Given the description of an element on the screen output the (x, y) to click on. 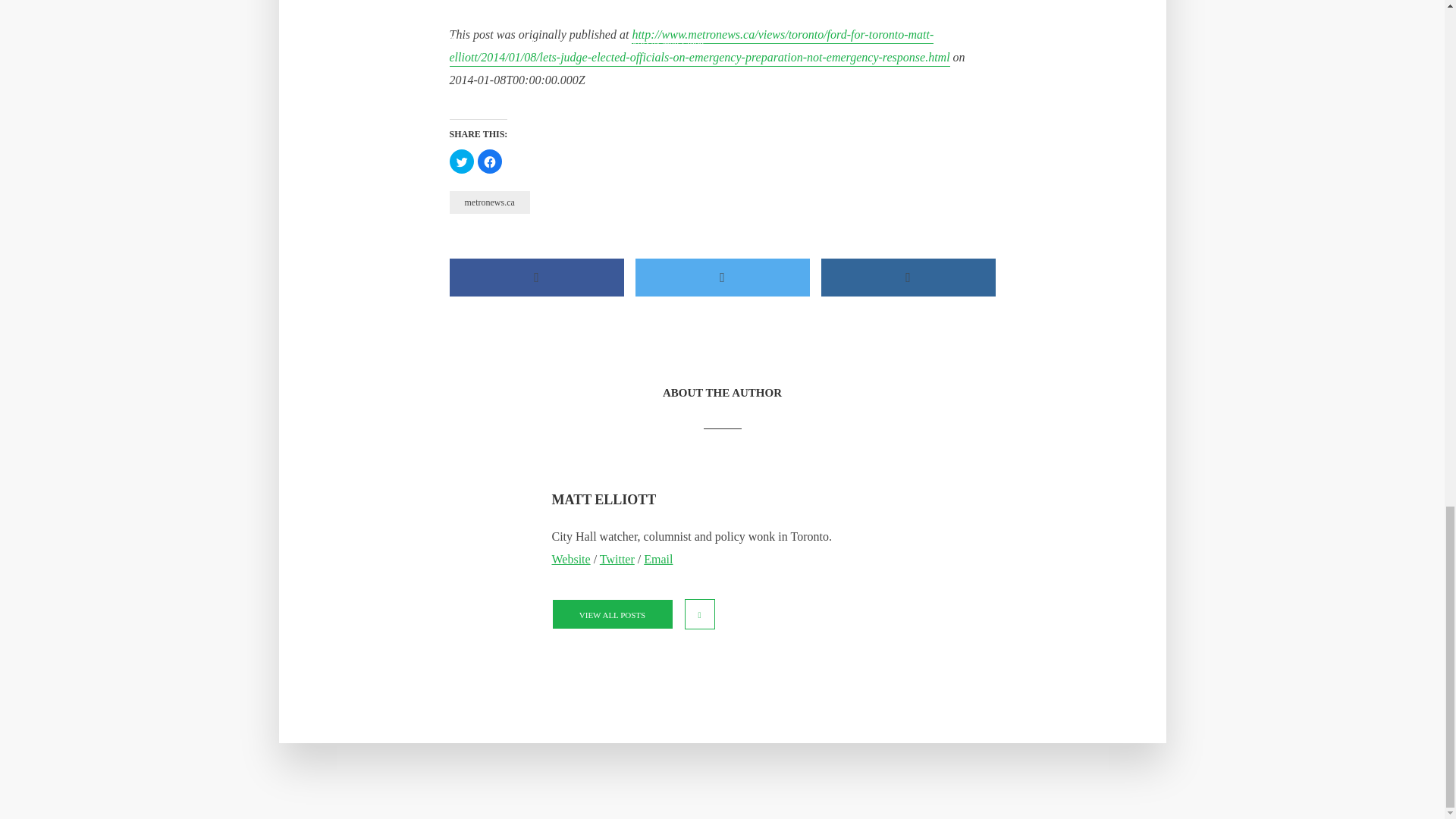
Website (571, 558)
VIEW ALL POSTS (611, 613)
metronews.ca (488, 201)
Click to share on Twitter (460, 161)
Click to share on Facebook (489, 161)
Email (657, 558)
Twitter (616, 558)
